Given the description of an element on the screen output the (x, y) to click on. 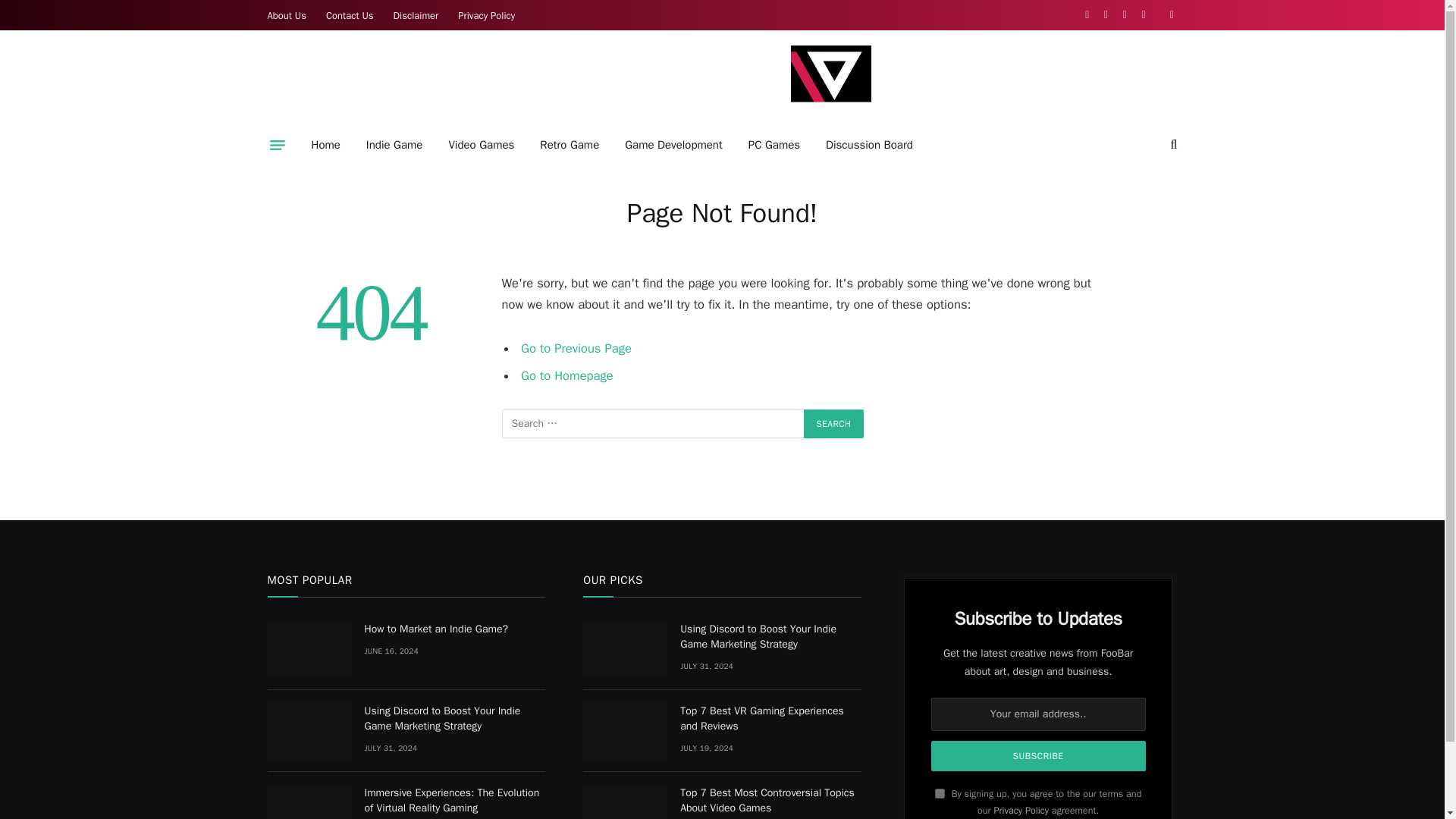
Search (833, 423)
Indie Devchronicles (830, 84)
Using Discord to Boost Your Indie Game Marketing Strategy (308, 730)
Go to Previous Page (576, 348)
Game Development (673, 144)
Top 7 Best VR Gaming Experiences and Reviews (624, 730)
Using Discord to Boost Your Indie Game Marketing Strategy (624, 648)
Home (325, 144)
Search (833, 423)
